Given the description of an element on the screen output the (x, y) to click on. 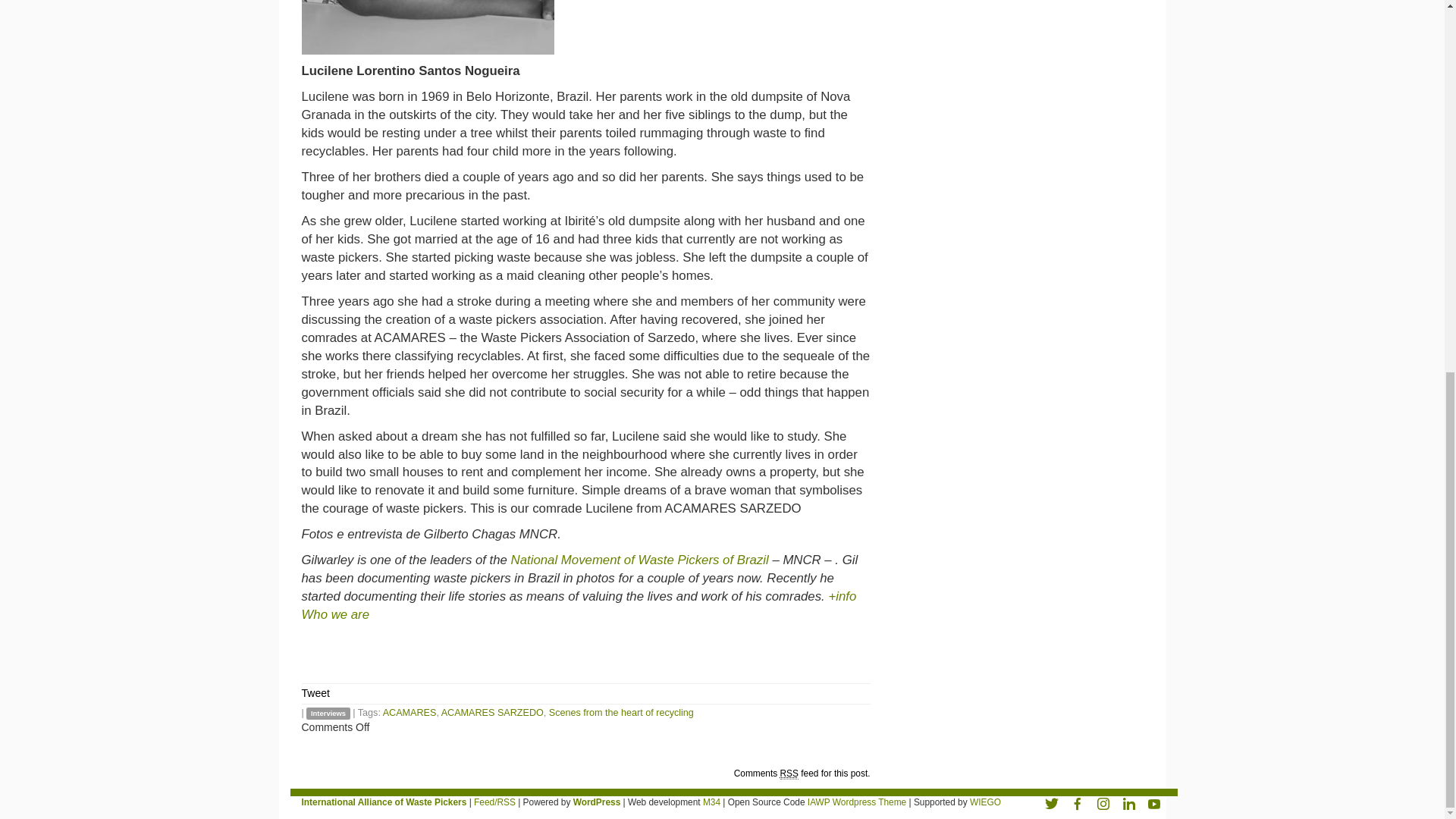
Twitter International Alliance of Waste Pickers (1051, 802)
montera34 (711, 801)
View all posts in Interviews (327, 713)
Really Simple Syndication (788, 773)
